Given the description of an element on the screen output the (x, y) to click on. 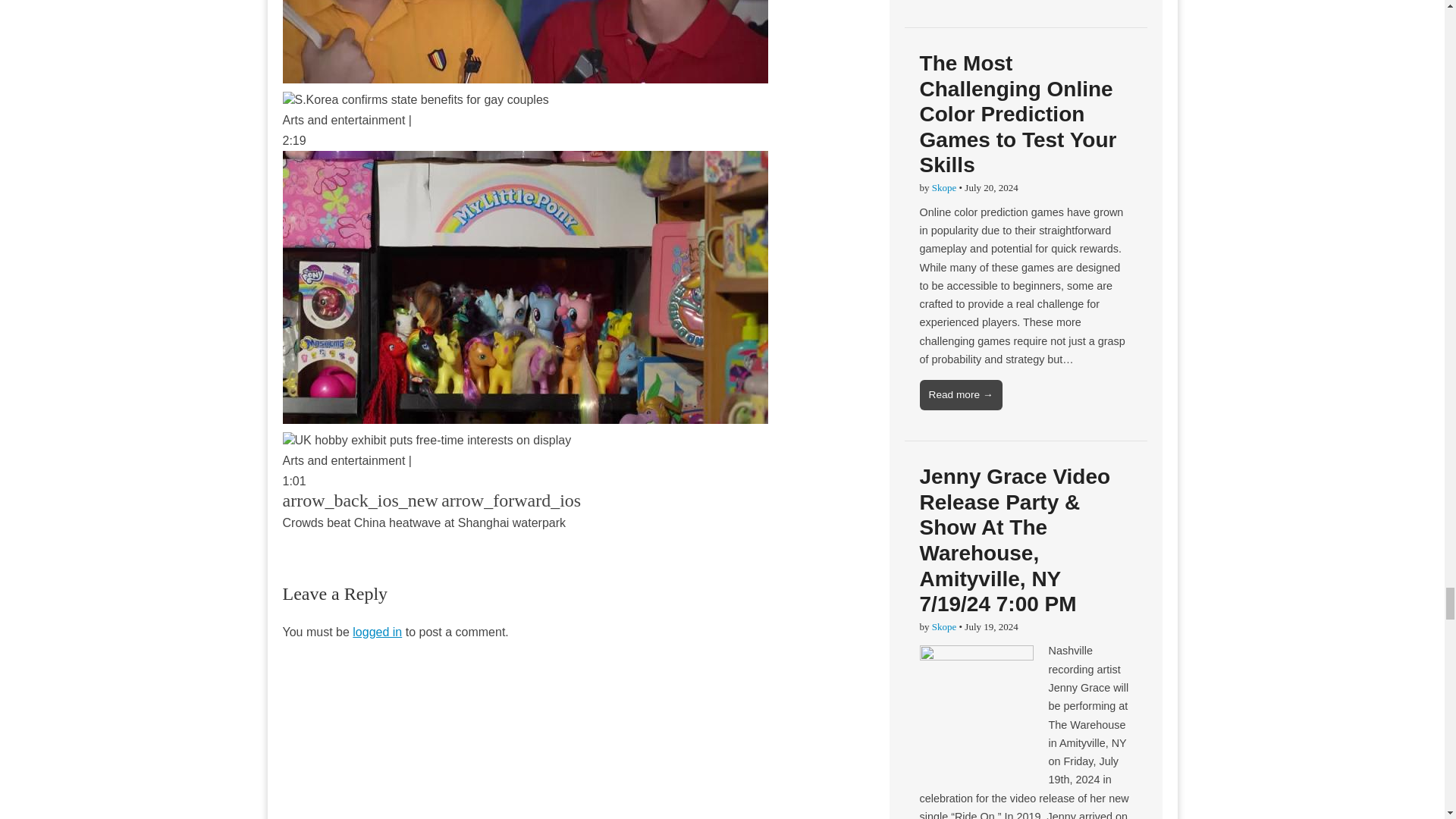
logged in (376, 631)
